Given the description of an element on the screen output the (x, y) to click on. 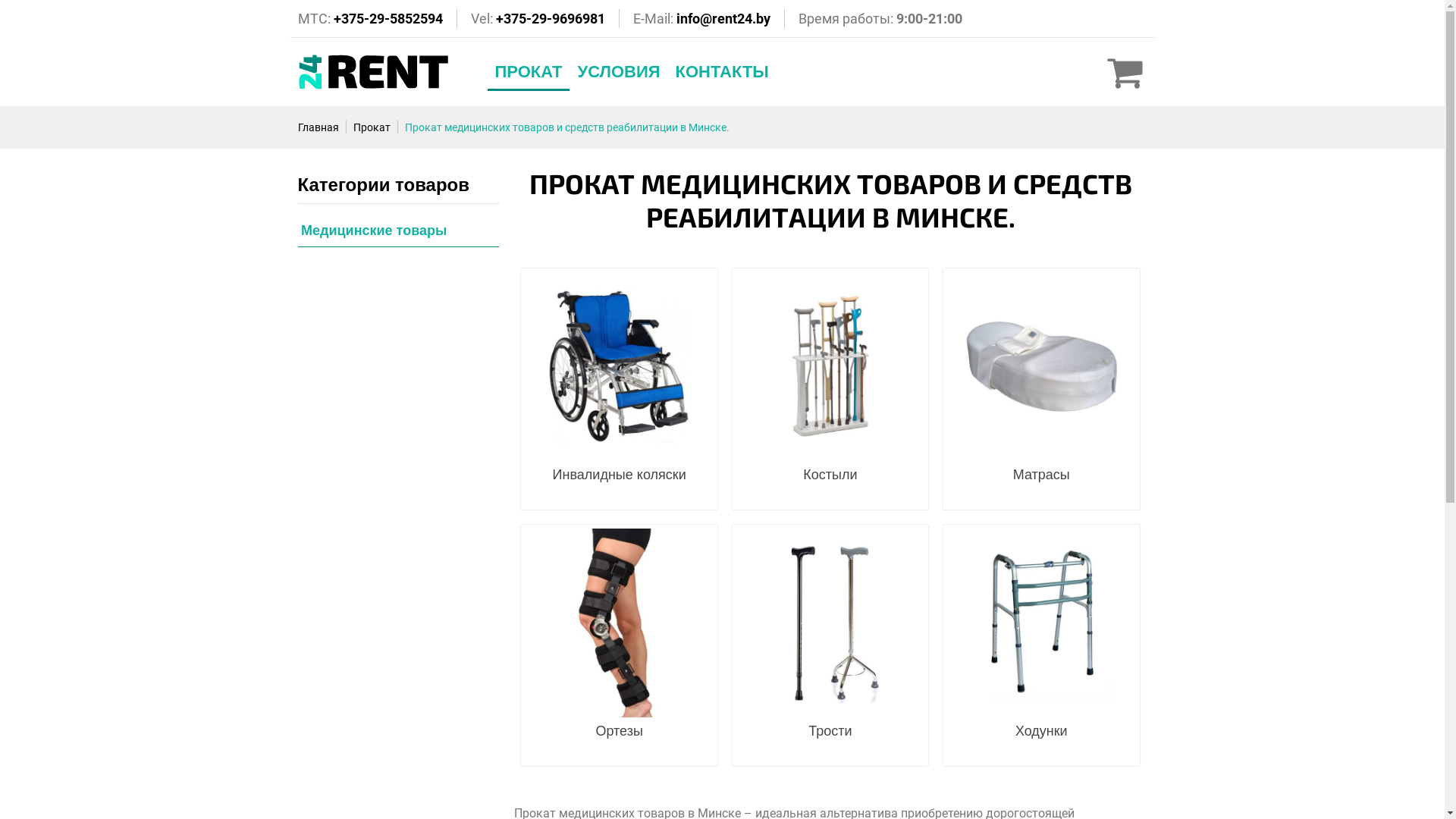
info@rent24.by Element type: text (723, 18)
rent24.by Element type: text (498, 172)
+375-29-9696981 Element type: text (550, 18)
+375-29-5852594 Element type: text (387, 18)
rent24.by Element type: hover (372, 72)
